Given the description of an element on the screen output the (x, y) to click on. 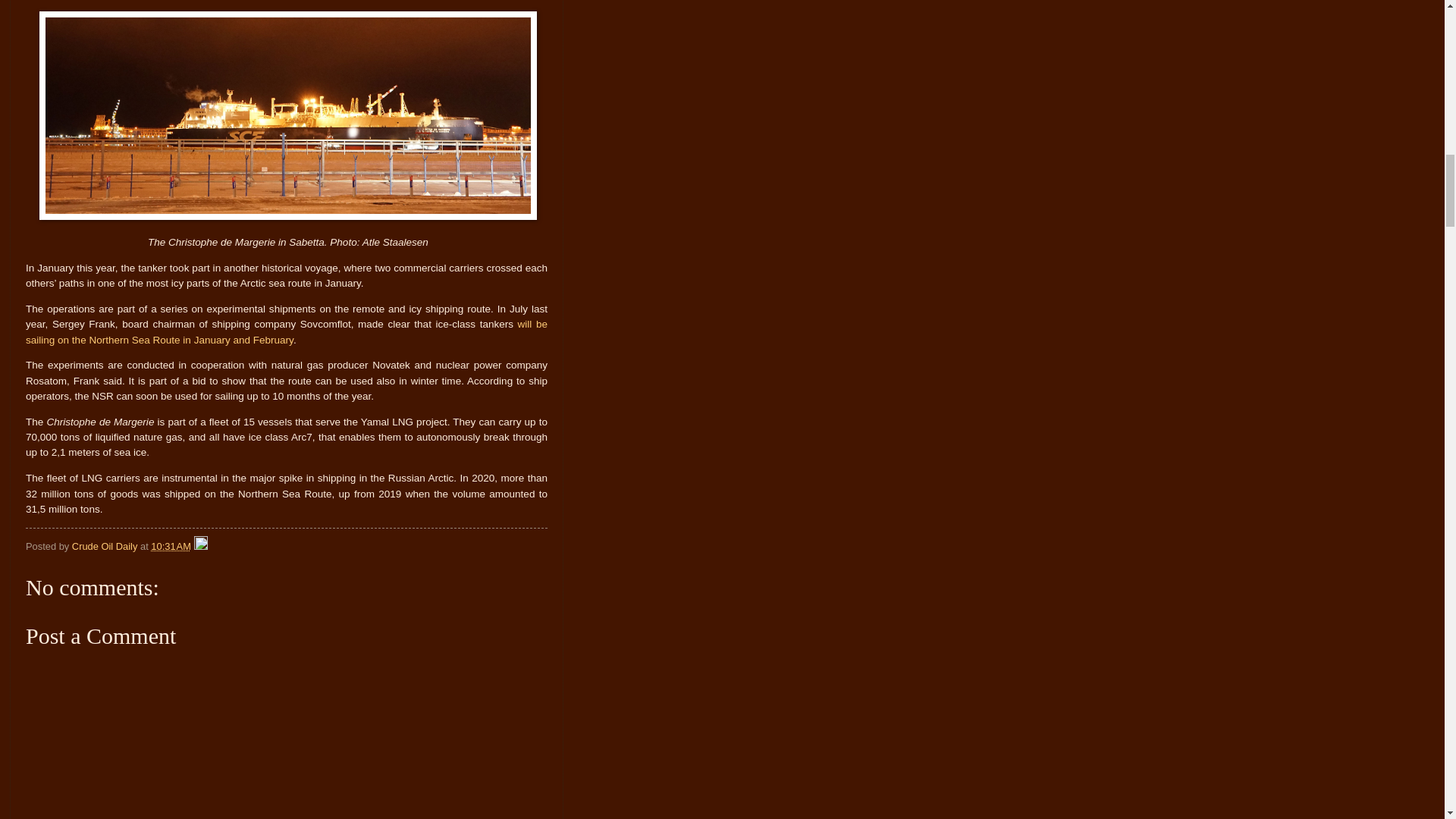
permanent link (170, 546)
author profile (105, 546)
Crude Oil Daily (105, 546)
Edit Post (200, 546)
